Given the description of an element on the screen output the (x, y) to click on. 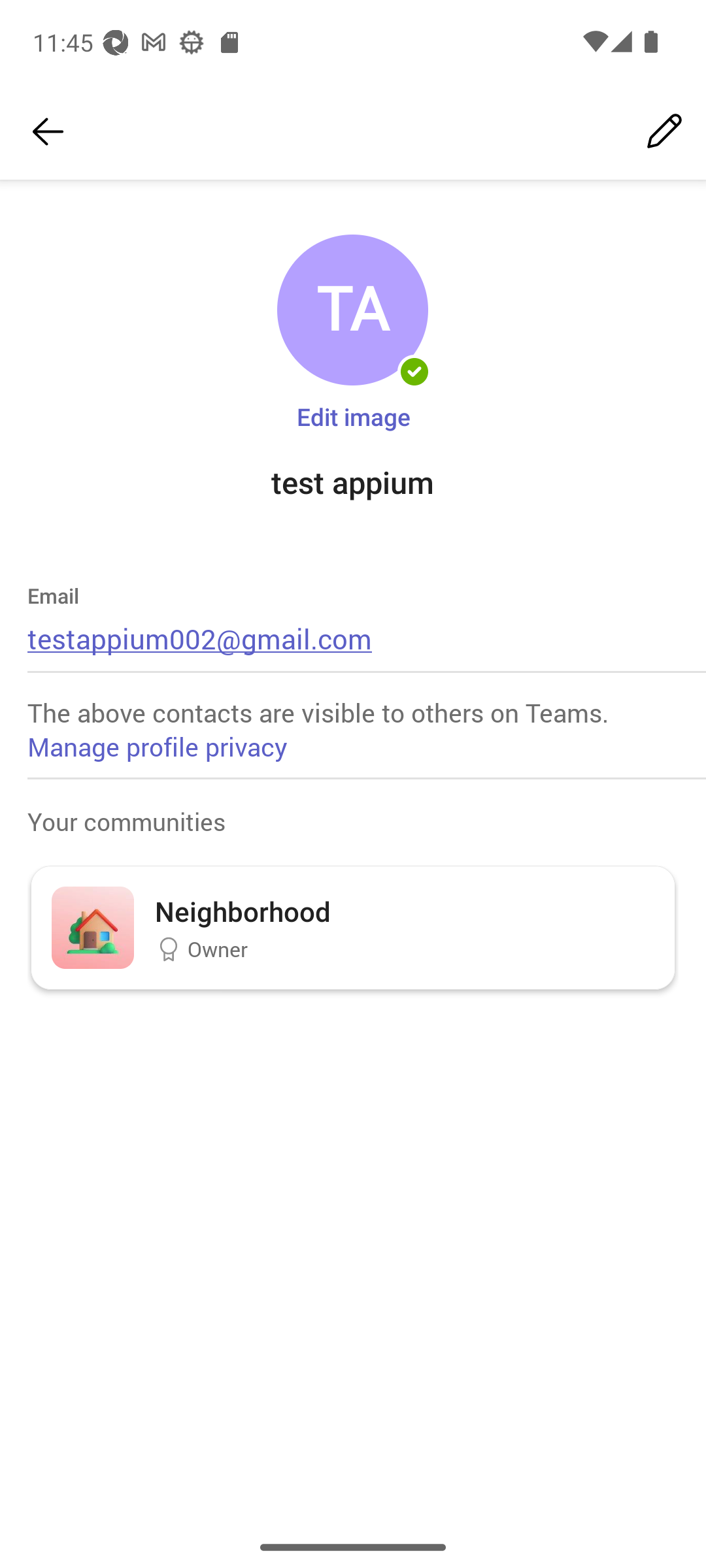
Back (48, 131)
Edit display name (664, 131)
test appium profile picture, Status: Available (352, 310)
Edit image (352, 415)
testappium002@gmail.com (199, 637)
